Given the description of an element on the screen output the (x, y) to click on. 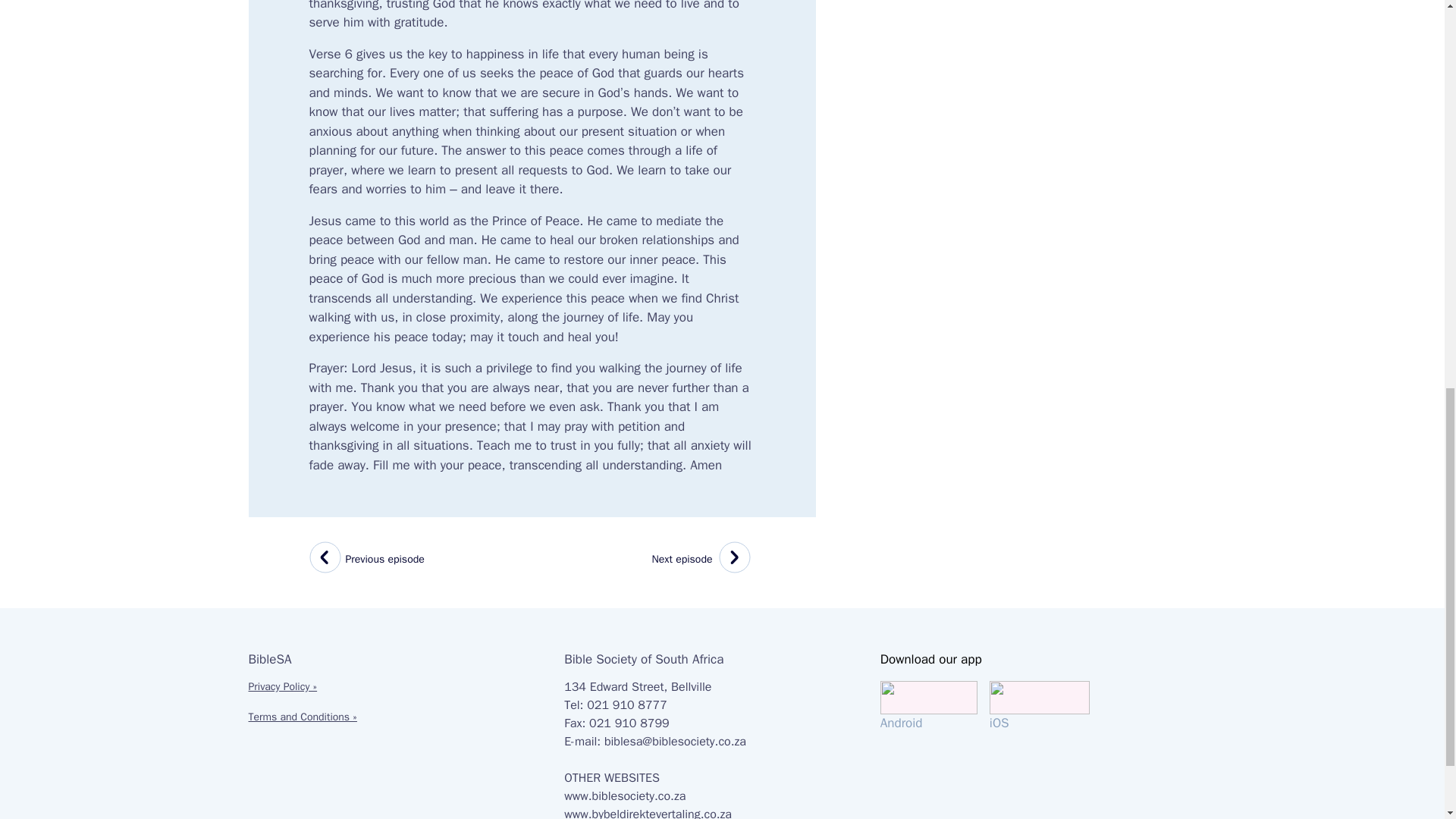
www.biblesociety.co.za (703, 559)
www.bybeldirektevertaling.co.za (624, 795)
previous (648, 812)
iOS (327, 559)
Android (1039, 706)
Right (935, 706)
